Given the description of an element on the screen output the (x, y) to click on. 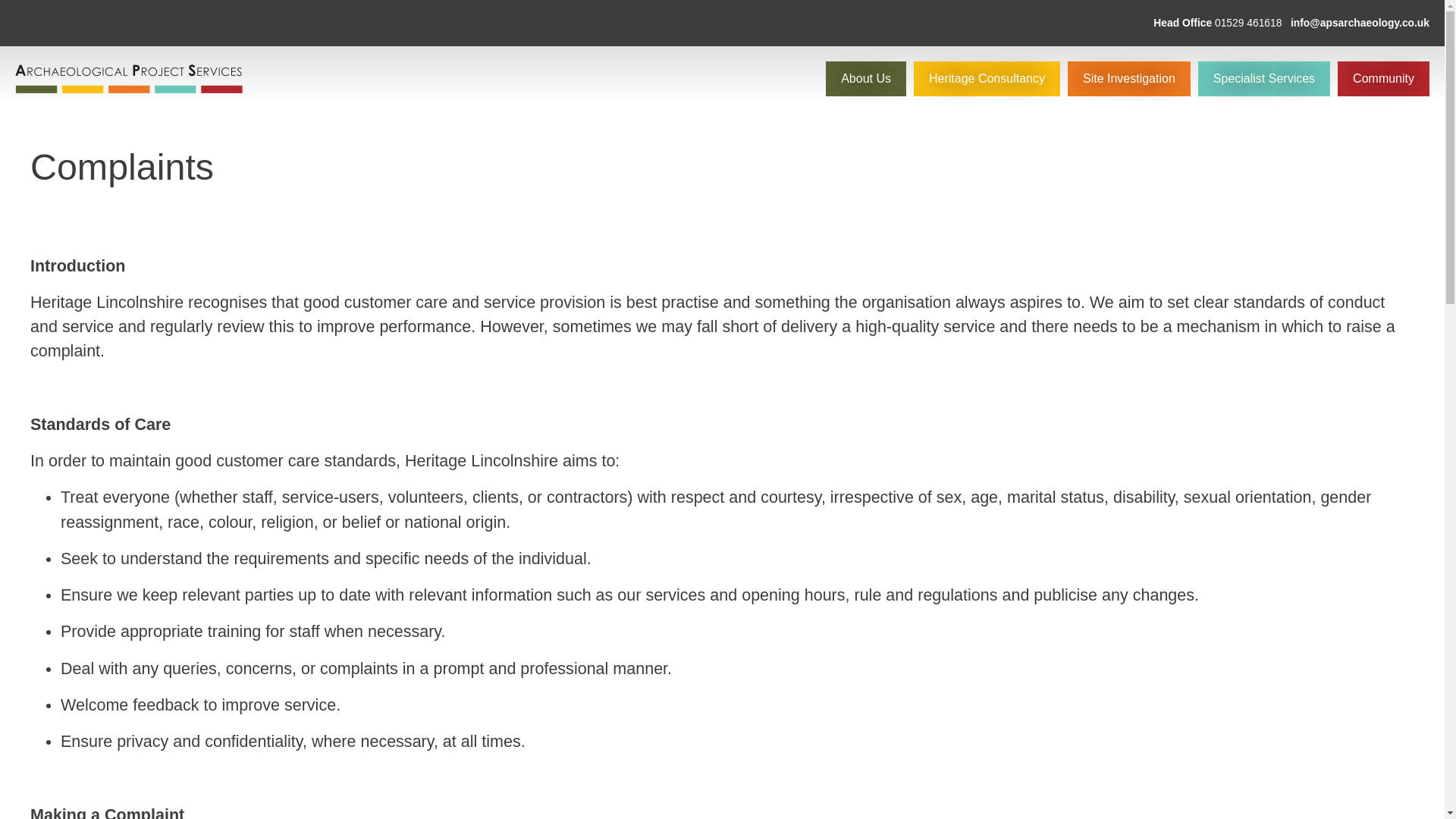
archaeological-project-services-logo (128, 78)
About Us (865, 78)
Site Investigation (1129, 78)
Heritage Consultancy (986, 78)
Specialist Services (1264, 78)
Community (1383, 78)
